Given the description of an element on the screen output the (x, y) to click on. 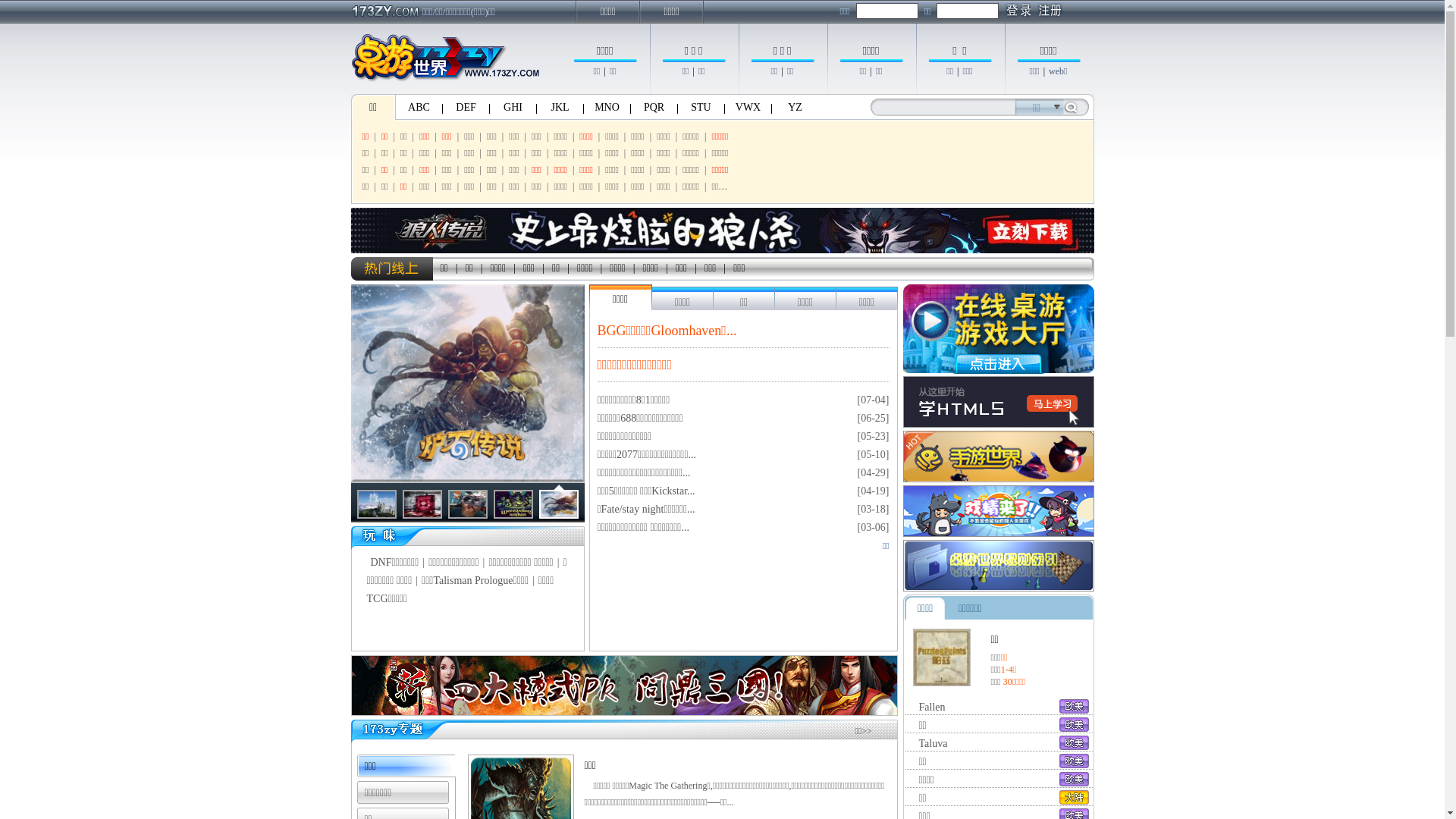
Taluva Element type: text (933, 743)
Fallen Element type: text (932, 706)
